Given the description of an element on the screen output the (x, y) to click on. 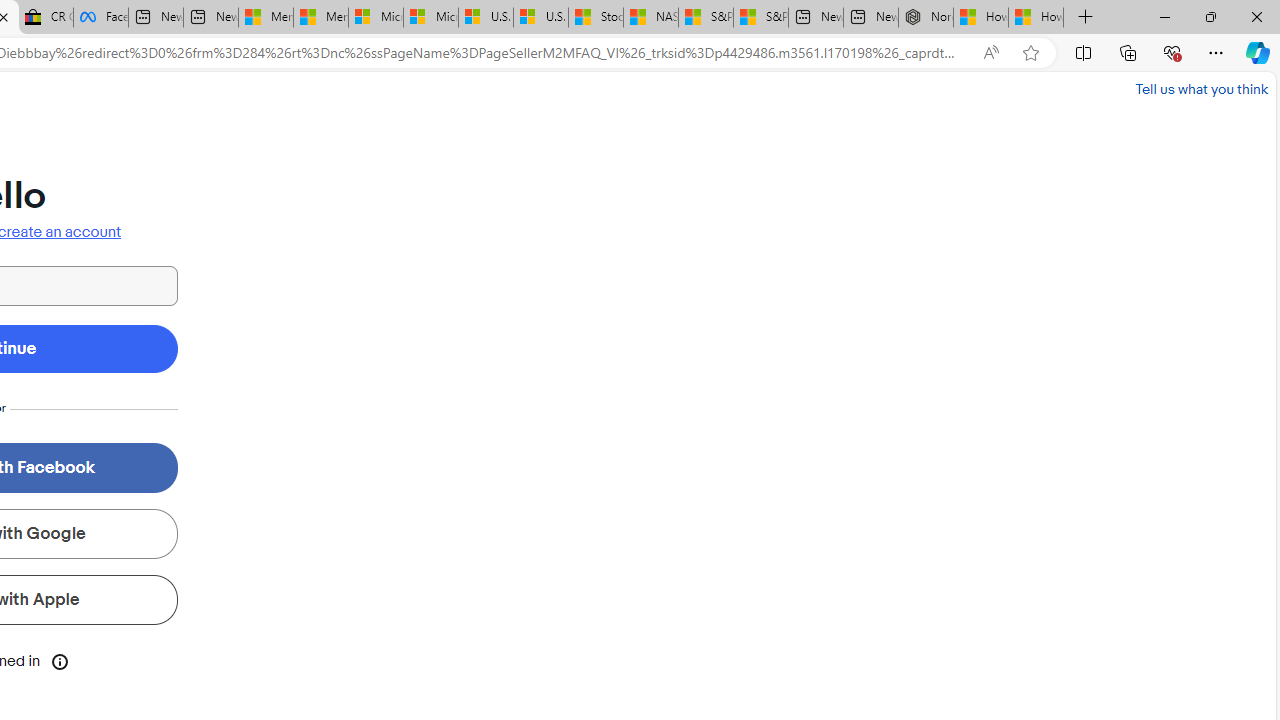
Facebook (100, 17)
